Given the description of an element on the screen output the (x, y) to click on. 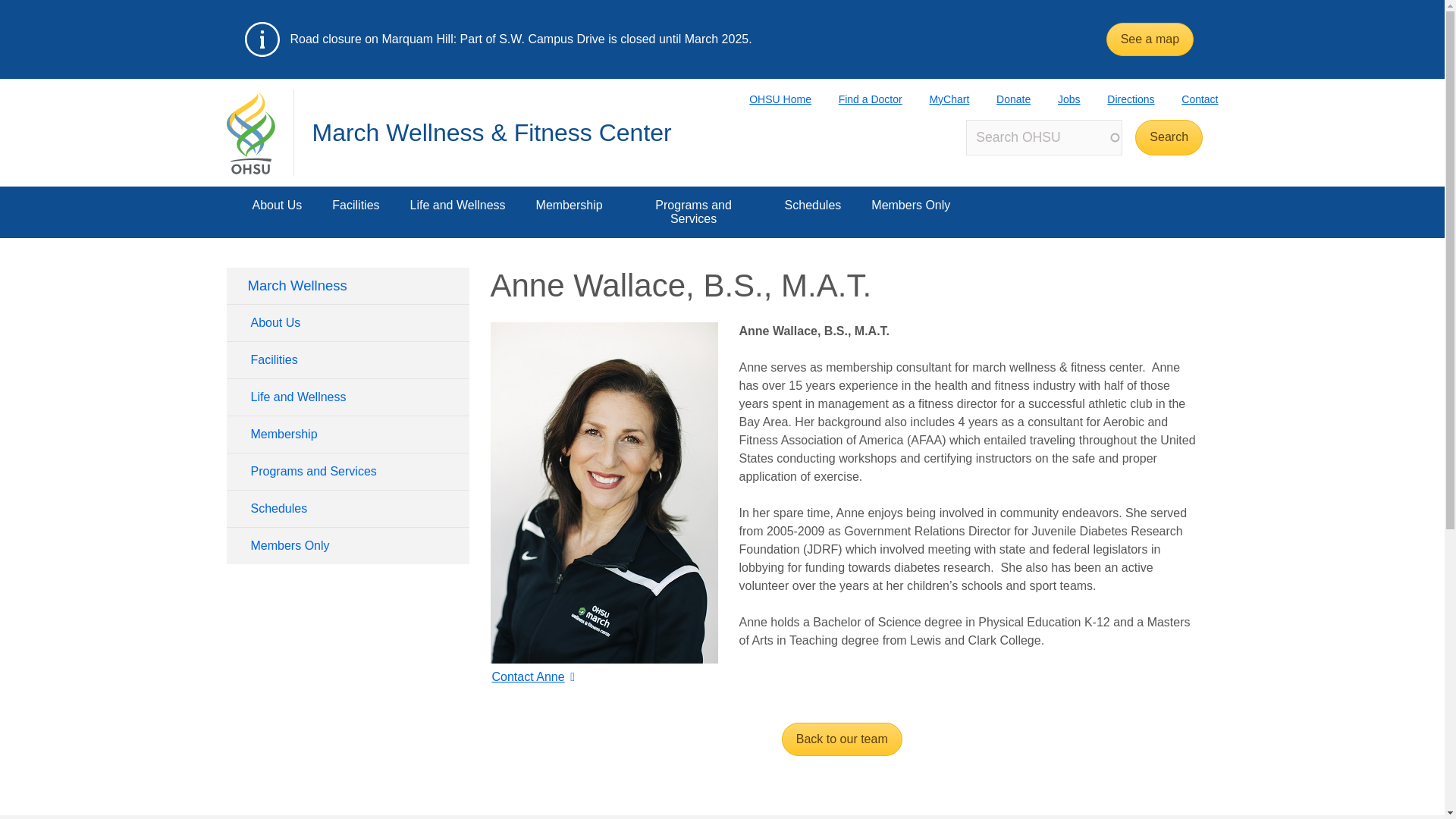
OHSU Homepage (766, 99)
OHSU Jobs (1055, 99)
MyChart (935, 99)
Life and Wellness (457, 212)
Directions to OHSU (1117, 99)
Donate to OHSU (999, 99)
Directions (1117, 99)
MyChart (935, 99)
Programs and Services (693, 212)
Search (1168, 137)
